Given the description of an element on the screen output the (x, y) to click on. 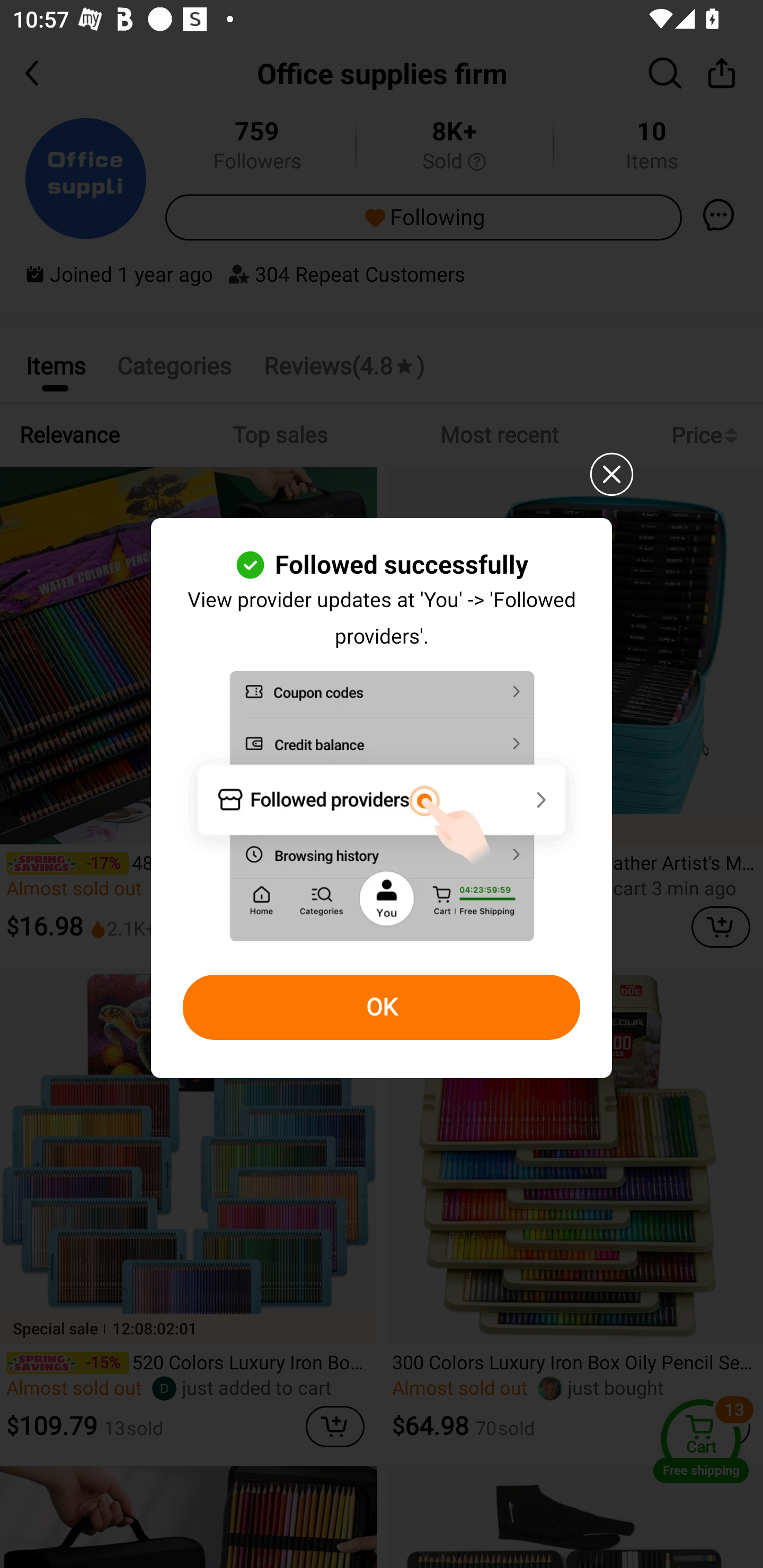
OK (381, 1007)
